Given the description of an element on the screen output the (x, y) to click on. 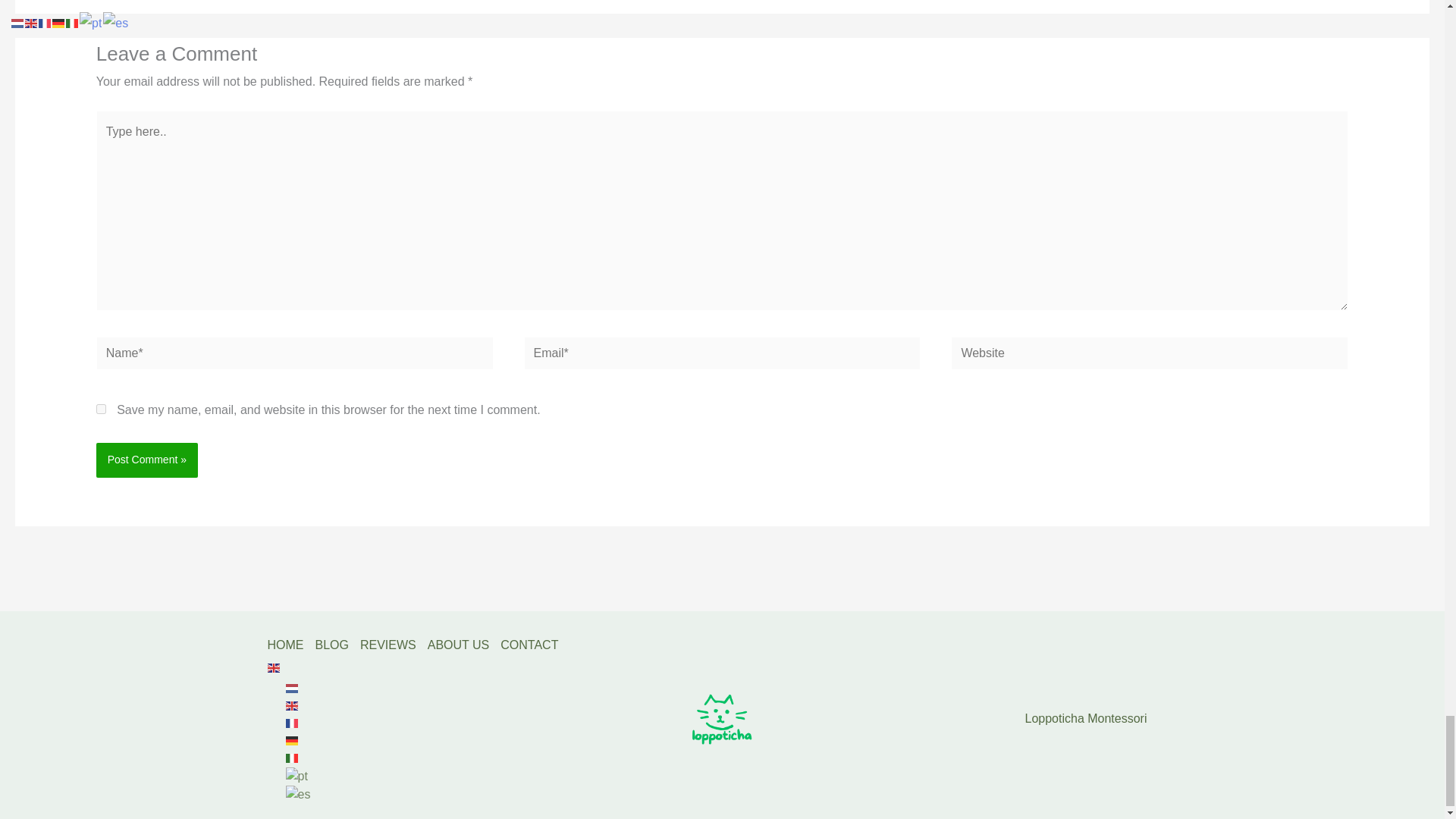
English (304, 704)
Italiano (304, 757)
Deutsch (304, 740)
ABOUT US (464, 644)
CONTACT (534, 644)
English (294, 667)
BLOG (337, 644)
Nederlands (304, 687)
REVIEWS (393, 644)
yes (101, 409)
HOME (290, 644)
